Given the description of an element on the screen output the (x, y) to click on. 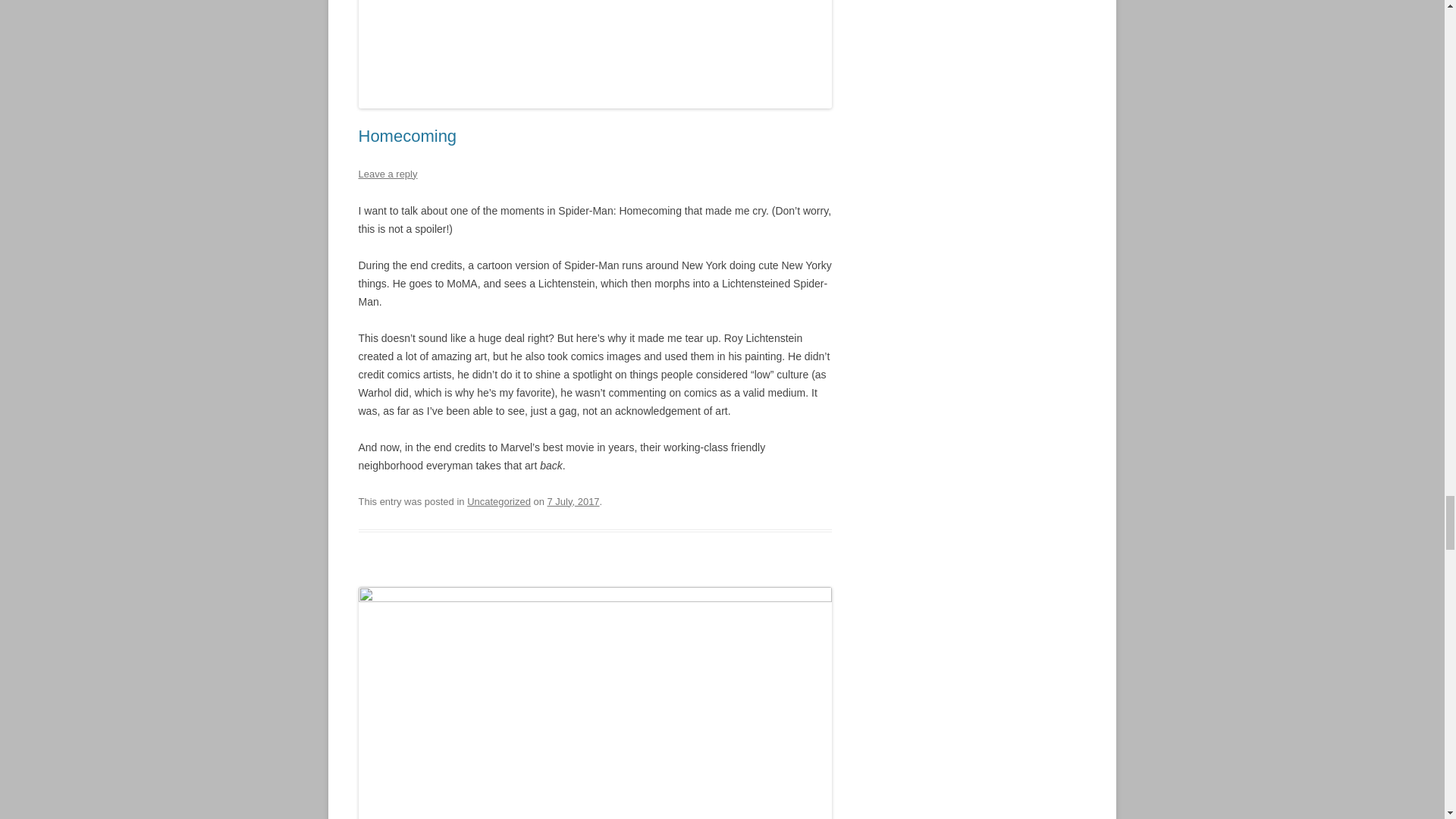
Uncategorized (499, 501)
2:07 pm (573, 501)
Homecoming (407, 135)
Leave a reply (387, 173)
